Given the description of an element on the screen output the (x, y) to click on. 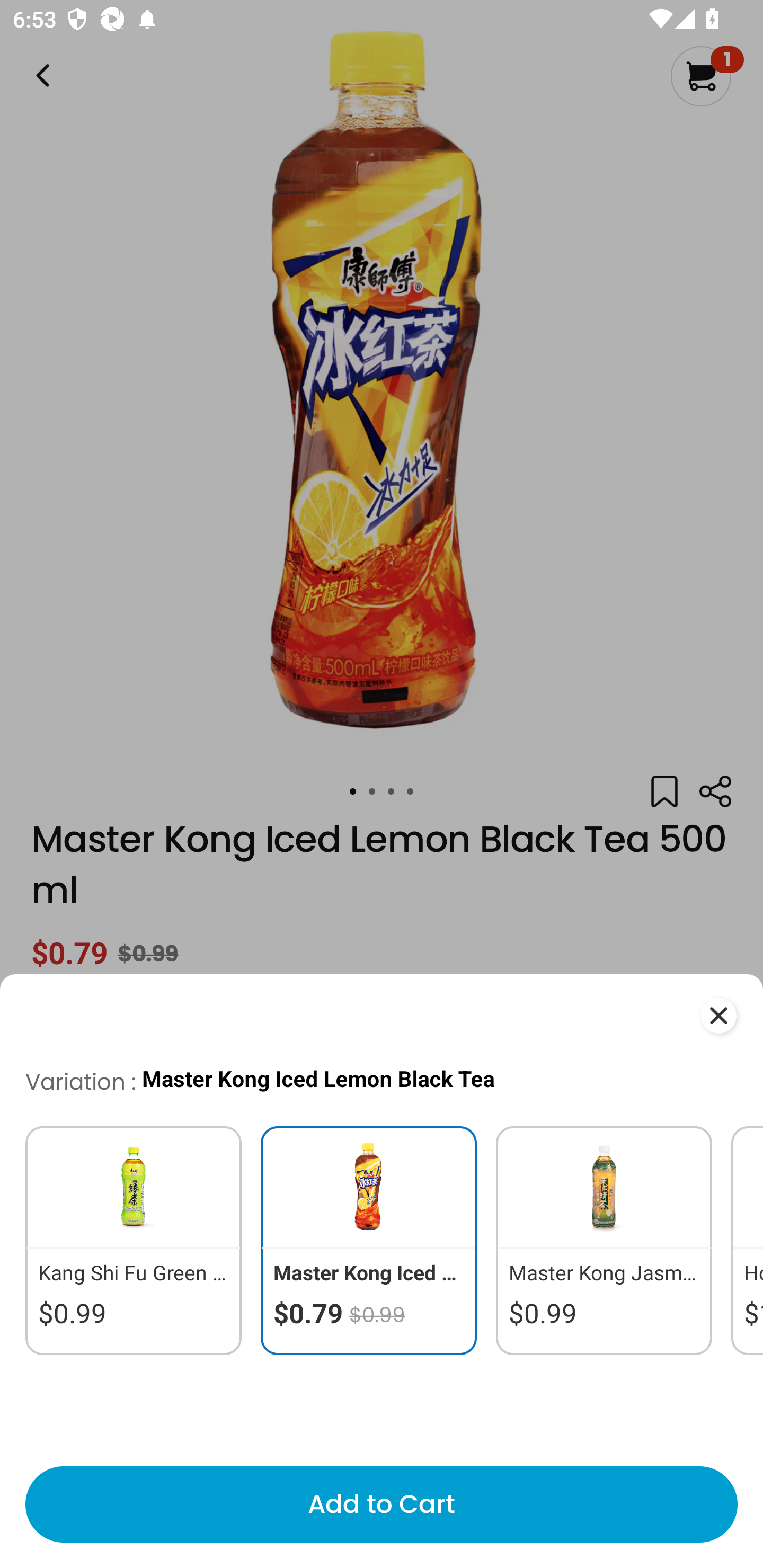
Kang Shi Fu Green Tea $0.99 (125, 1239)
Master Kong Iced Lemon Black Tea $0.79 $0.99 (368, 1239)
Master Kong Jasmine Green Tea, Less Sugar $0.99 (603, 1239)
Add to Cart (381, 1504)
Add to Cart (381, 1504)
